Given the description of an element on the screen output the (x, y) to click on. 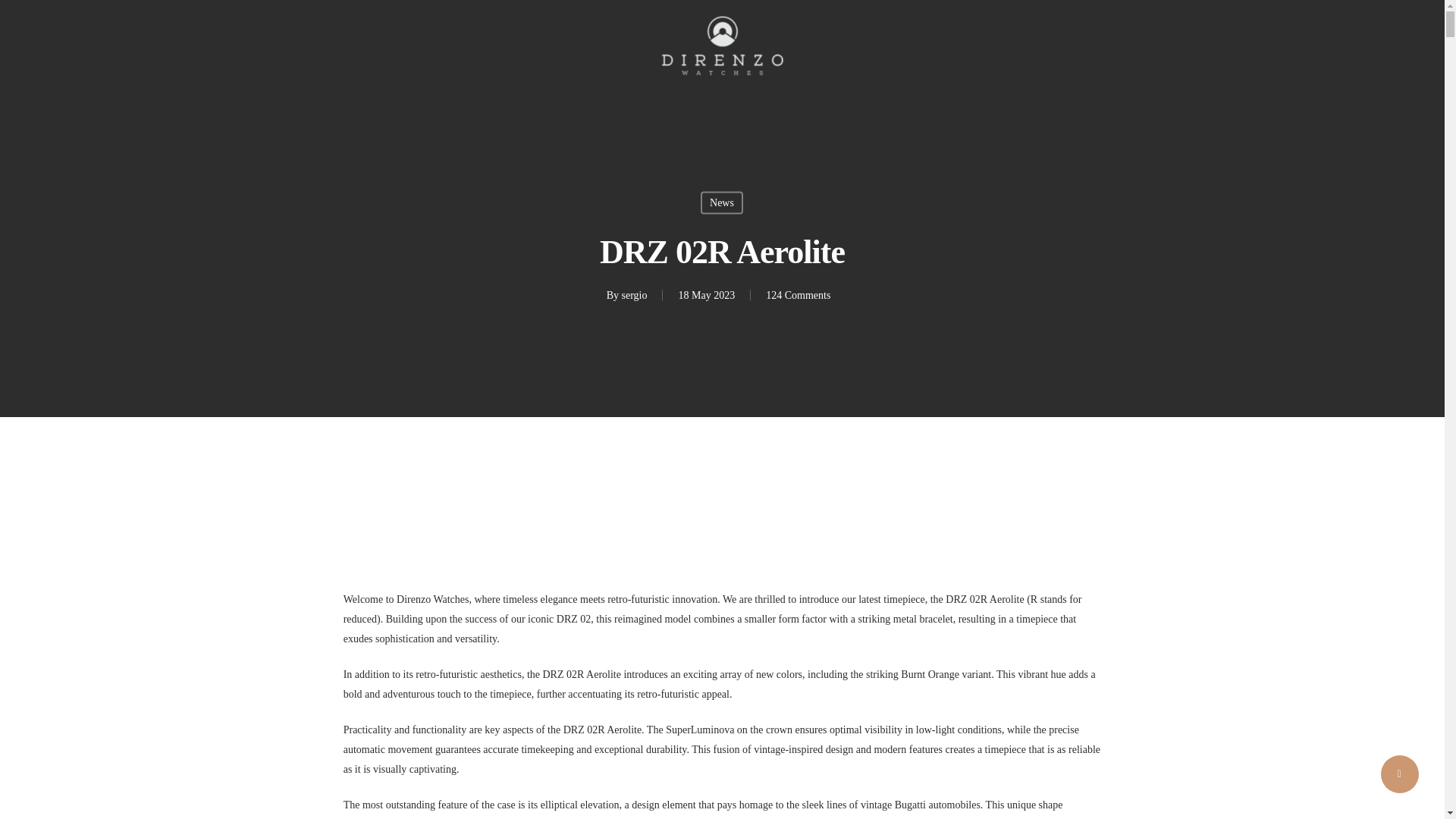
Posts by sergio (634, 295)
124 Comments (797, 295)
sergio (634, 295)
News (721, 201)
